Given the description of an element on the screen output the (x, y) to click on. 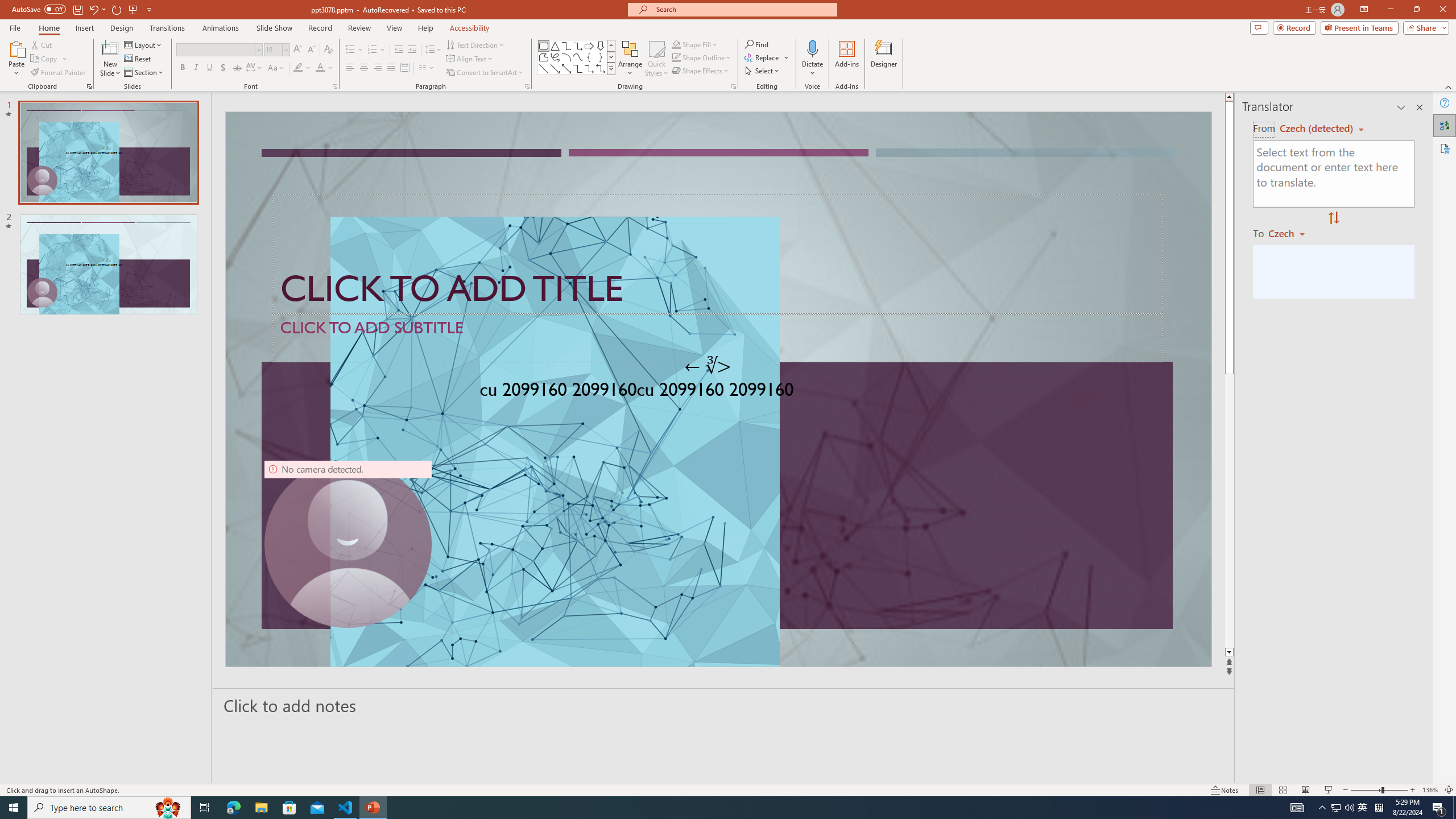
Czech (detected) (1317, 128)
Zoom 136% (1430, 790)
TextBox 7 (707, 366)
